Given the description of an element on the screen output the (x, y) to click on. 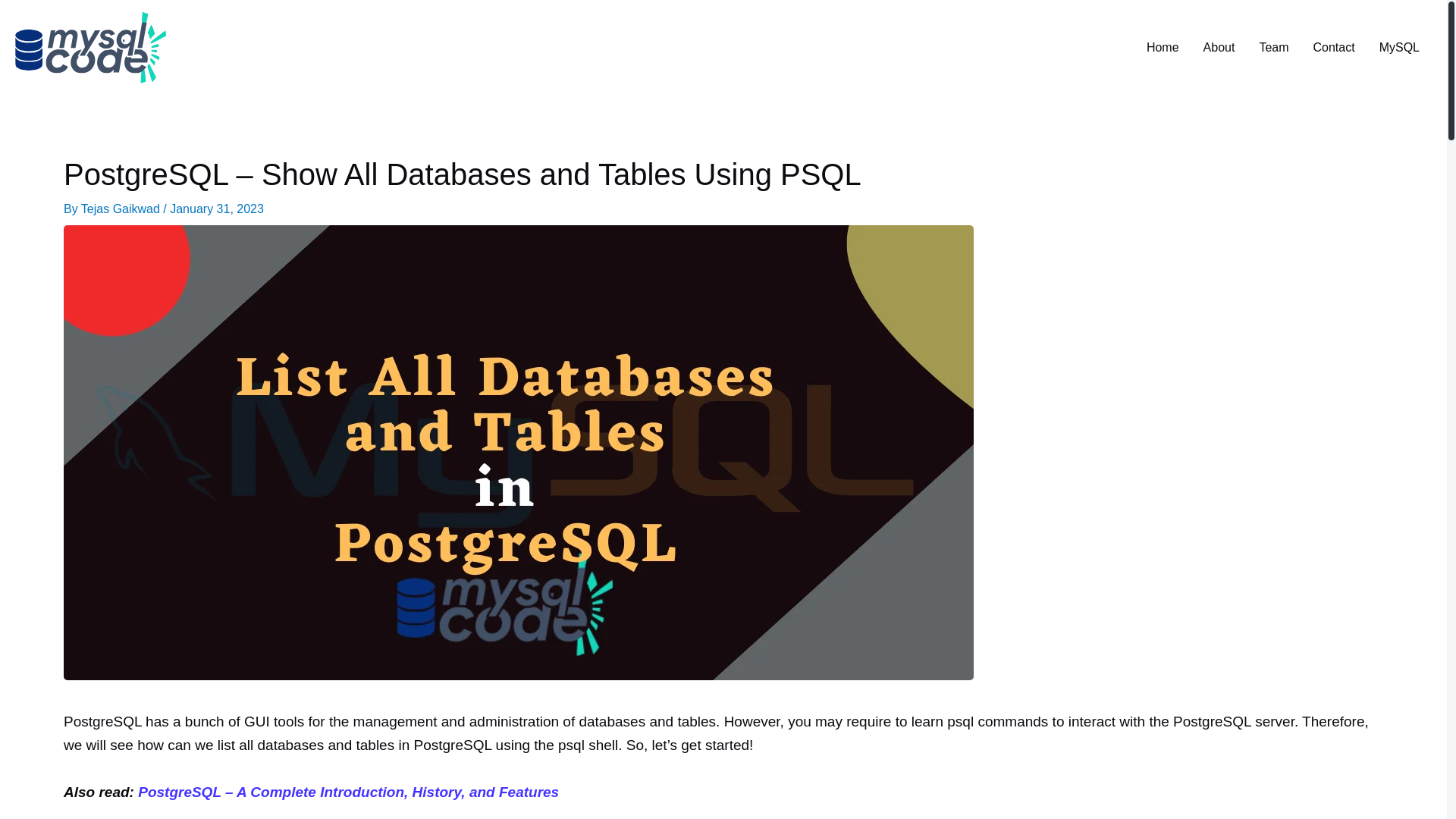
About (1219, 47)
MySQL (1399, 47)
View all posts by Tejas Gaikwad (122, 208)
Home (1162, 47)
Tejas Gaikwad (122, 208)
Team (1273, 47)
Contact (1334, 47)
